Given the description of an element on the screen output the (x, y) to click on. 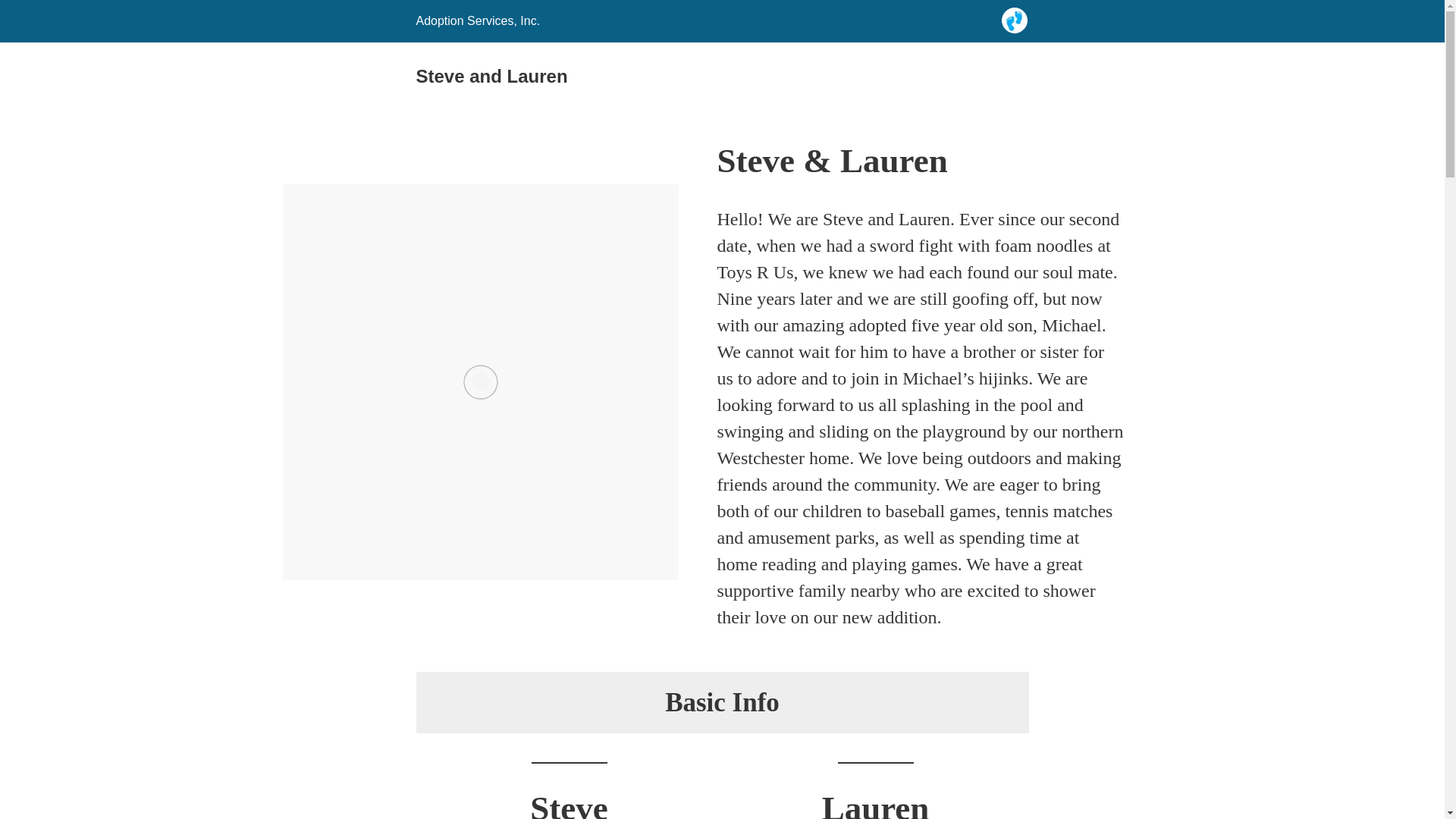
Adoption Services, Inc. (477, 20)
